Given the description of an element on the screen output the (x, y) to click on. 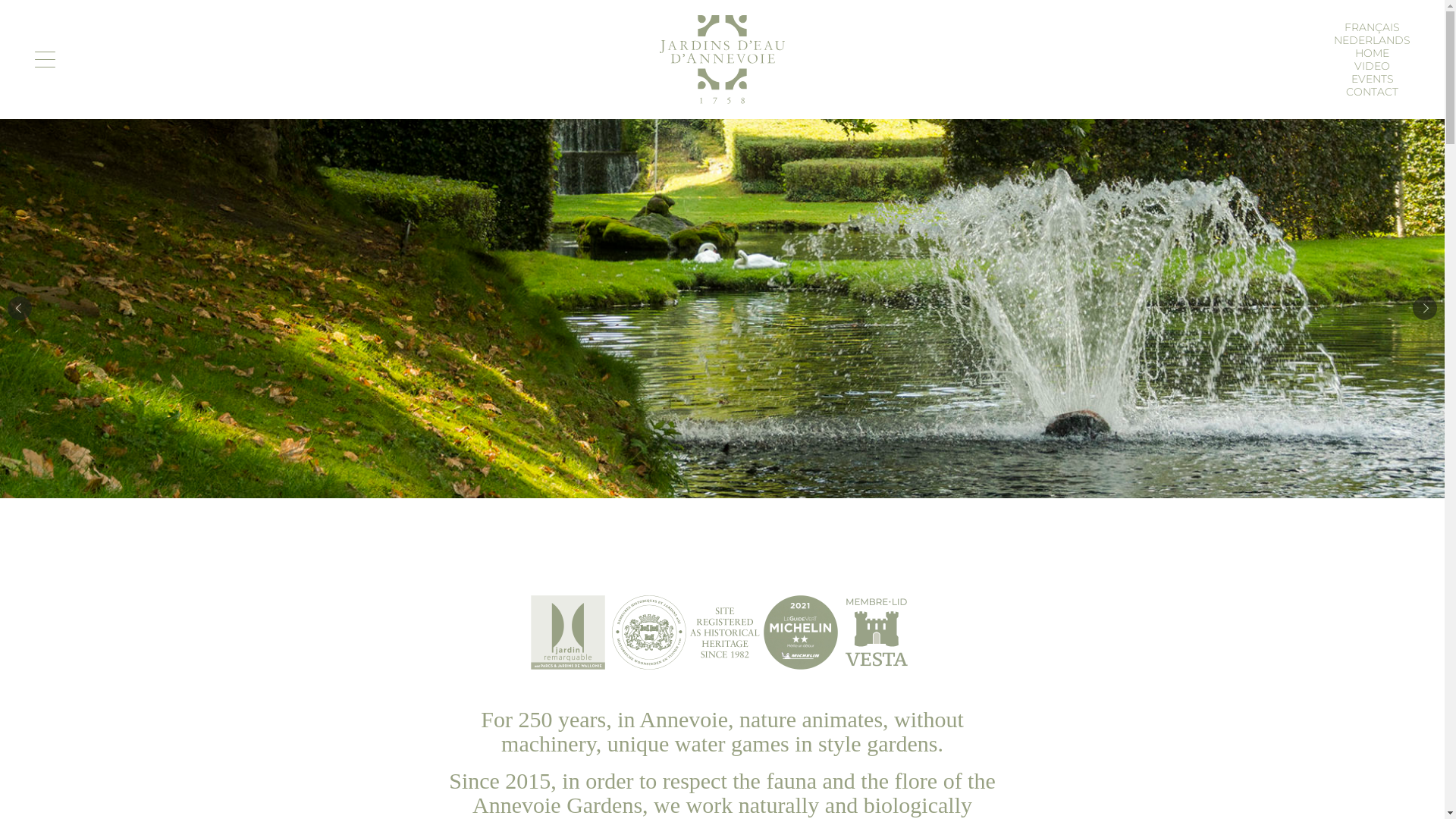
VIDEO Element type: text (1372, 65)
Prev Element type: text (19, 308)
NEDERLANDS Element type: text (1371, 40)
Next Element type: text (1424, 308)
CONTACT Element type: text (1372, 91)
HOME Element type: text (1372, 52)
EVENTS Element type: text (1372, 77)
Toggle navigation Element type: text (45, 59)
